Given the description of an element on the screen output the (x, y) to click on. 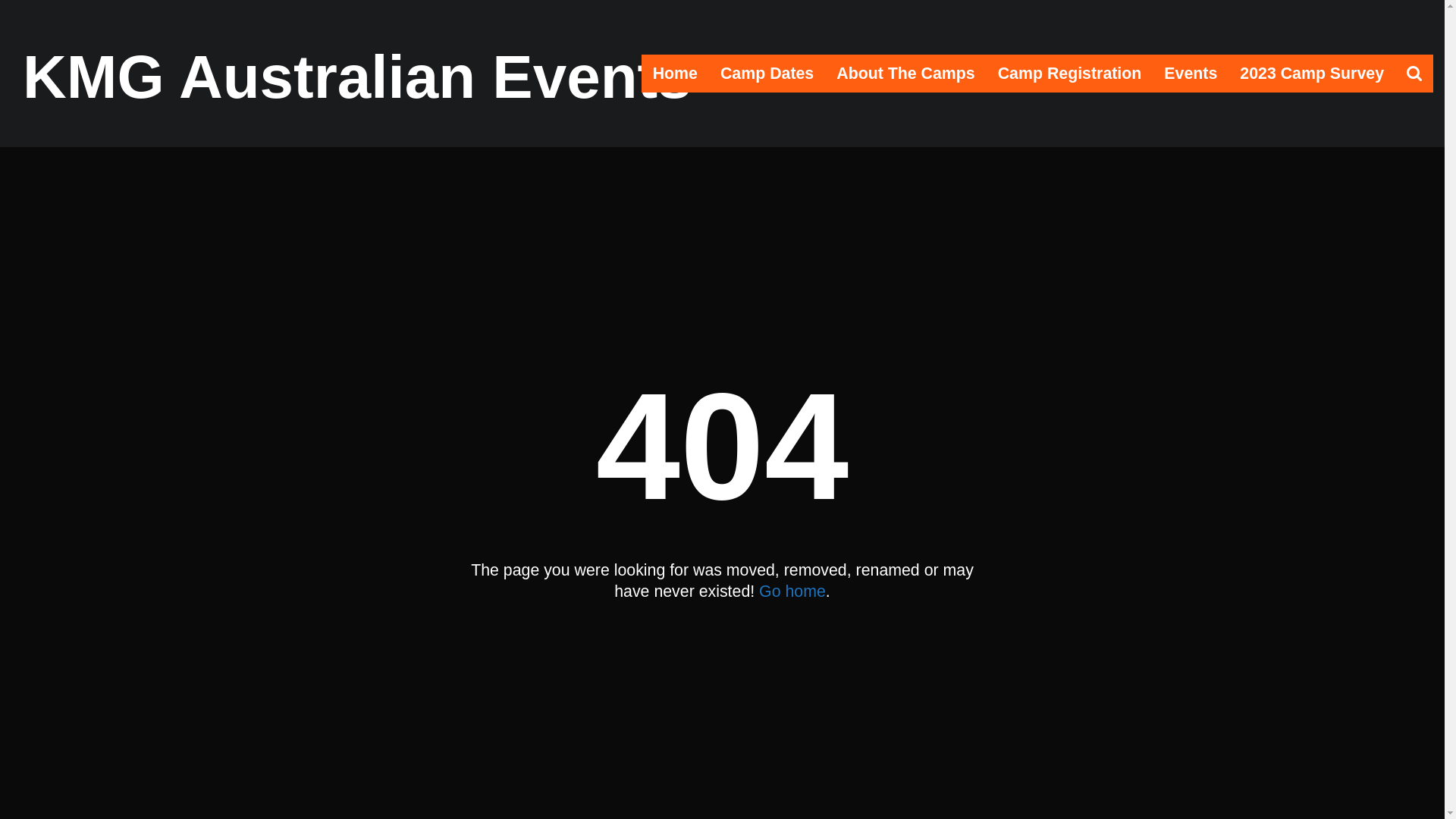
Events Element type: text (1190, 73)
Camp Registration Element type: text (1069, 73)
2023 Camp Survey Element type: text (1311, 73)
Home Element type: text (675, 73)
Camp Dates Element type: text (767, 73)
KMG Australian Events Element type: text (356, 76)
About The Camps Element type: text (905, 73)
Go home Element type: text (792, 591)
